Given the description of an element on the screen output the (x, y) to click on. 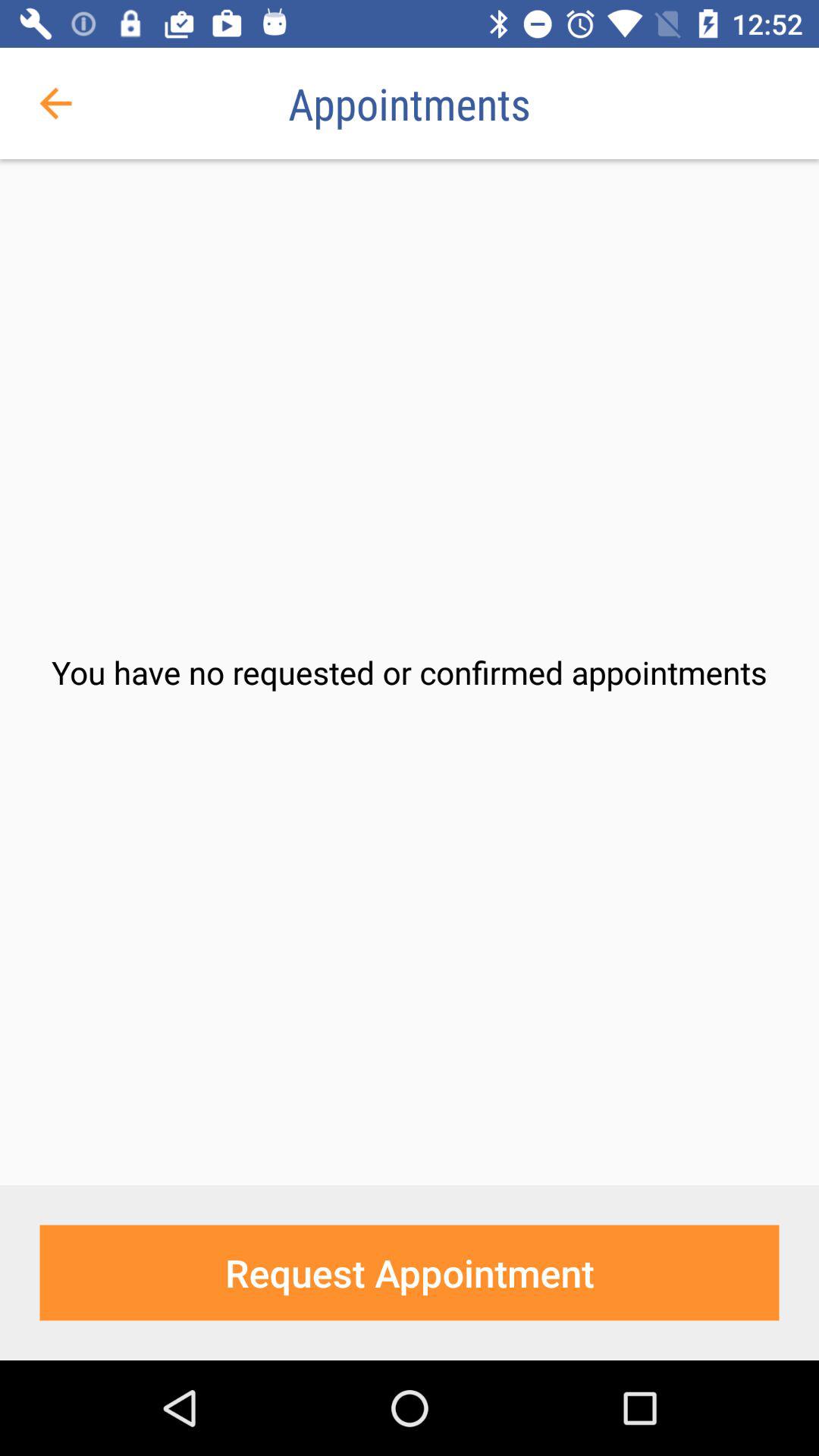
press item to the left of appointments (55, 103)
